Given the description of an element on the screen output the (x, y) to click on. 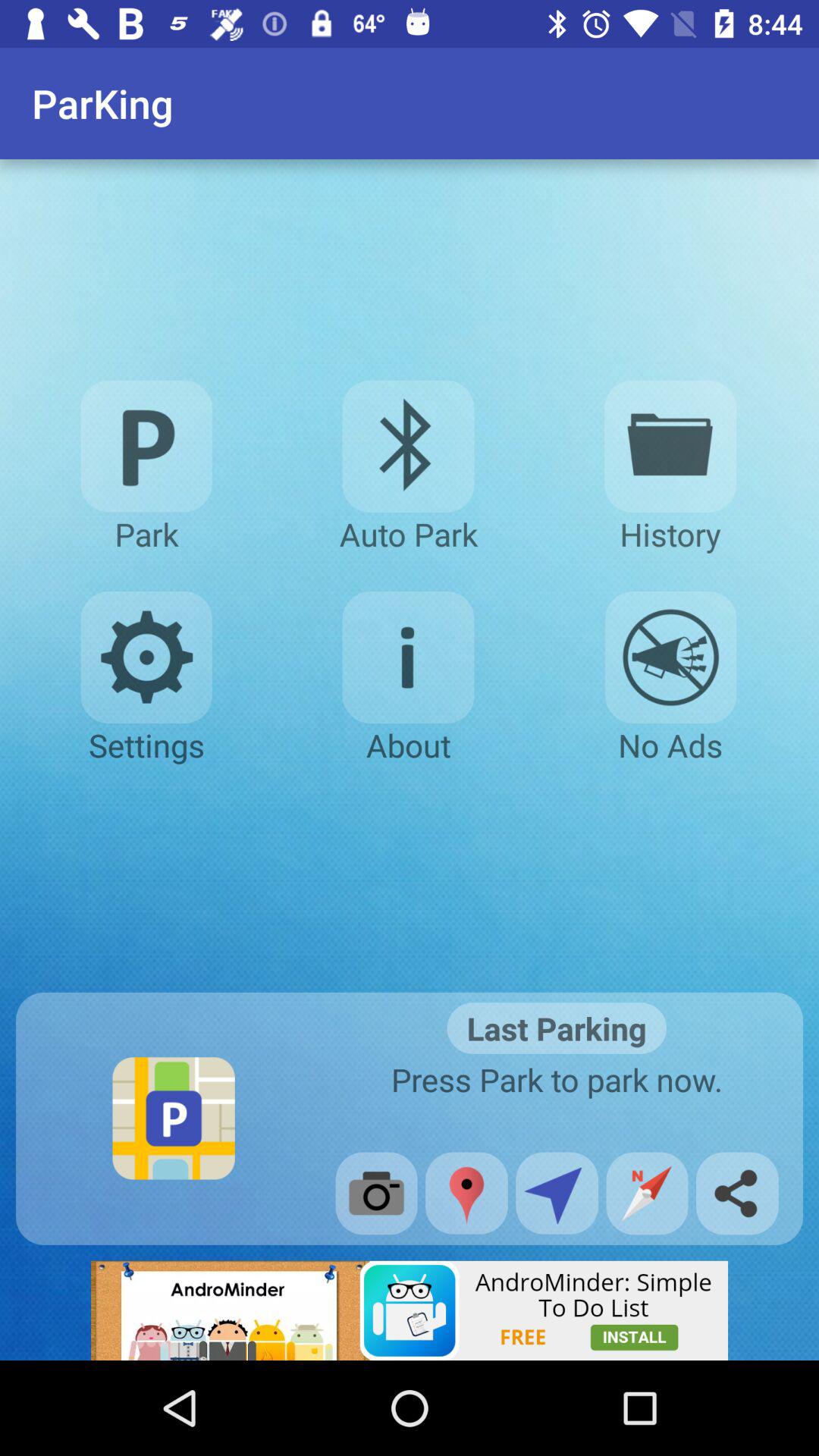
click to setting option (146, 657)
